Given the description of an element on the screen output the (x, y) to click on. 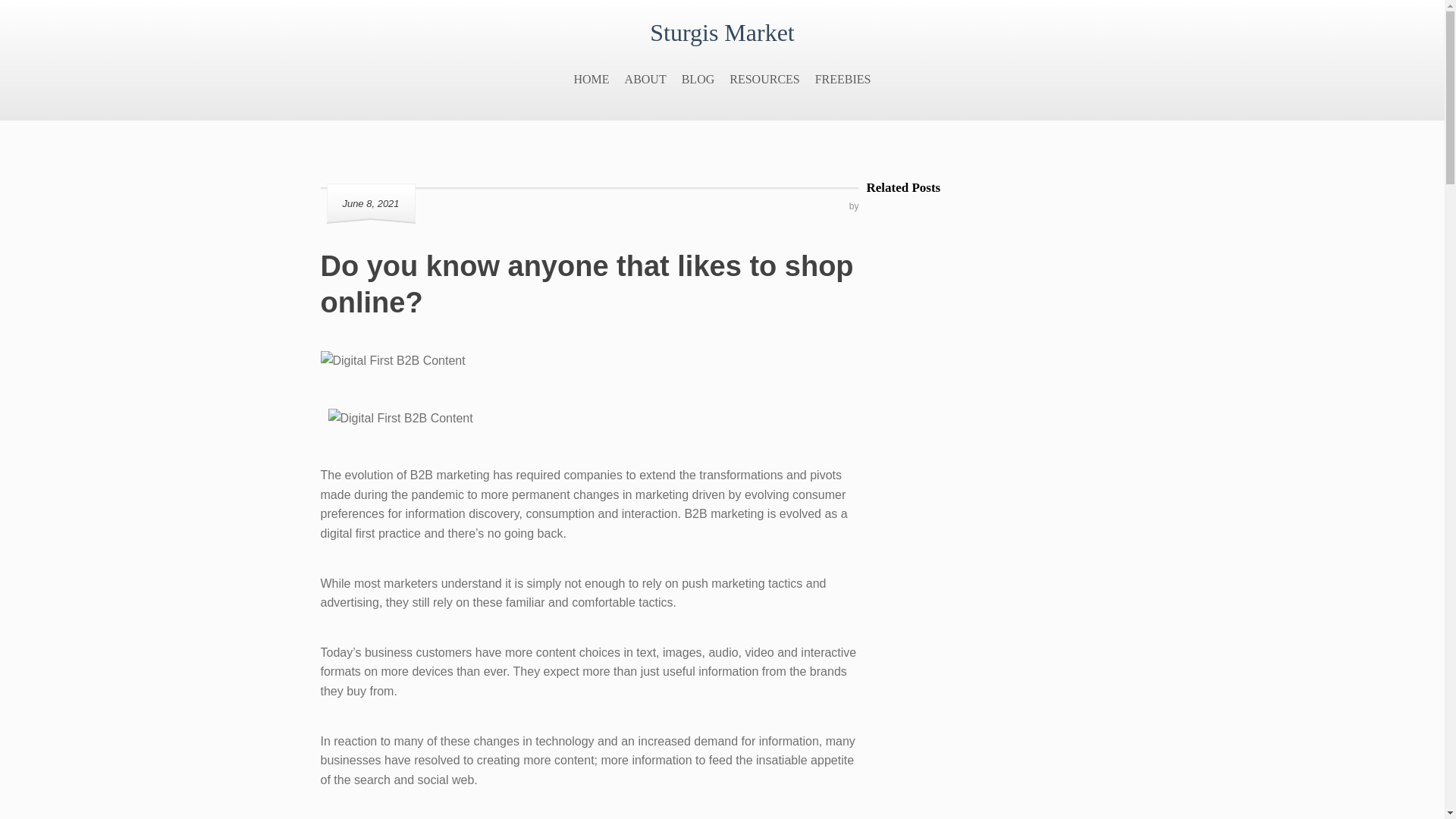
FREEBIES (843, 79)
RESOURCES (764, 79)
Sturgis Market (721, 31)
BLOG (698, 79)
HOME (590, 79)
ABOUT (645, 79)
Do you know anyone that likes to shop online? (586, 284)
